Given the description of an element on the screen output the (x, y) to click on. 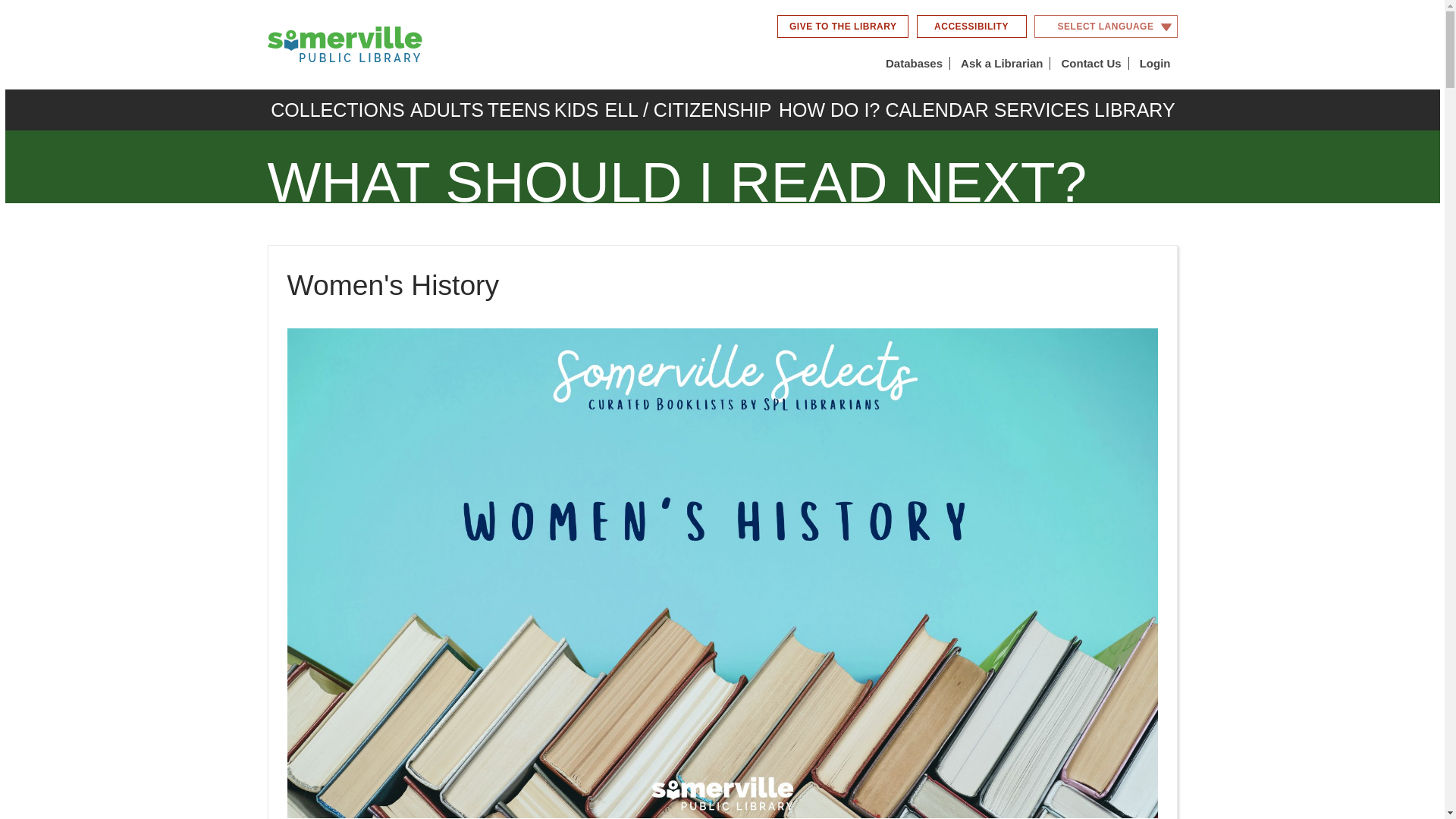
ADULTS (445, 109)
Somerville Public Library Funding Opportunities (842, 26)
COLLECTIONS (336, 109)
Resources, services and programs for adults (445, 109)
TEENS (517, 109)
Databases (914, 63)
Ask a Librarian (1001, 63)
Login (1154, 63)
See a list of available periodical and research databases (914, 63)
Ask a Librarian (1001, 63)
ACCESSIBILITY (970, 26)
Teens (517, 109)
Somerville Public Library logo (344, 44)
Accessibility Statement (970, 26)
Contact Us (1090, 63)
